Given the description of an element on the screen output the (x, y) to click on. 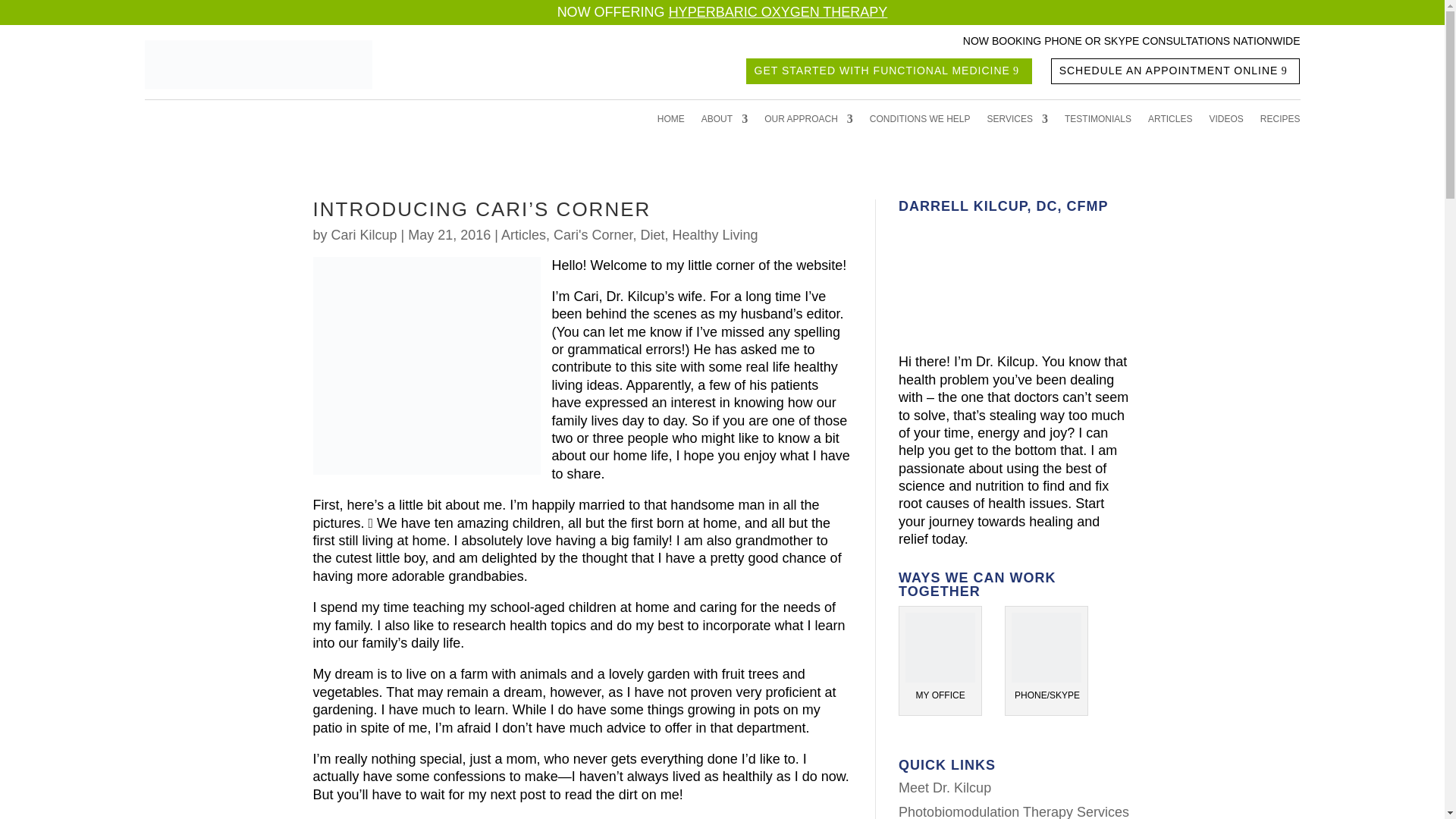
YouTube video player (1011, 277)
OUR APPROACH (808, 121)
logo-01 (257, 64)
SCHEDULE AN APPOINTMENT ONLINE (1175, 71)
SERVICES (1017, 121)
VIDEOS (1225, 121)
ARTICLES (1170, 121)
HOME (671, 121)
Posts by Cari Kilcup (364, 234)
RECIPES (1280, 121)
CONDITIONS WE HELP (920, 121)
ABOUT (724, 121)
HYPERBARIC OXYGEN THERAPY (778, 11)
TESTIMONIALS (1097, 121)
GET STARTED WITH FUNCTIONAL MEDICINE (888, 71)
